Given the description of an element on the screen output the (x, y) to click on. 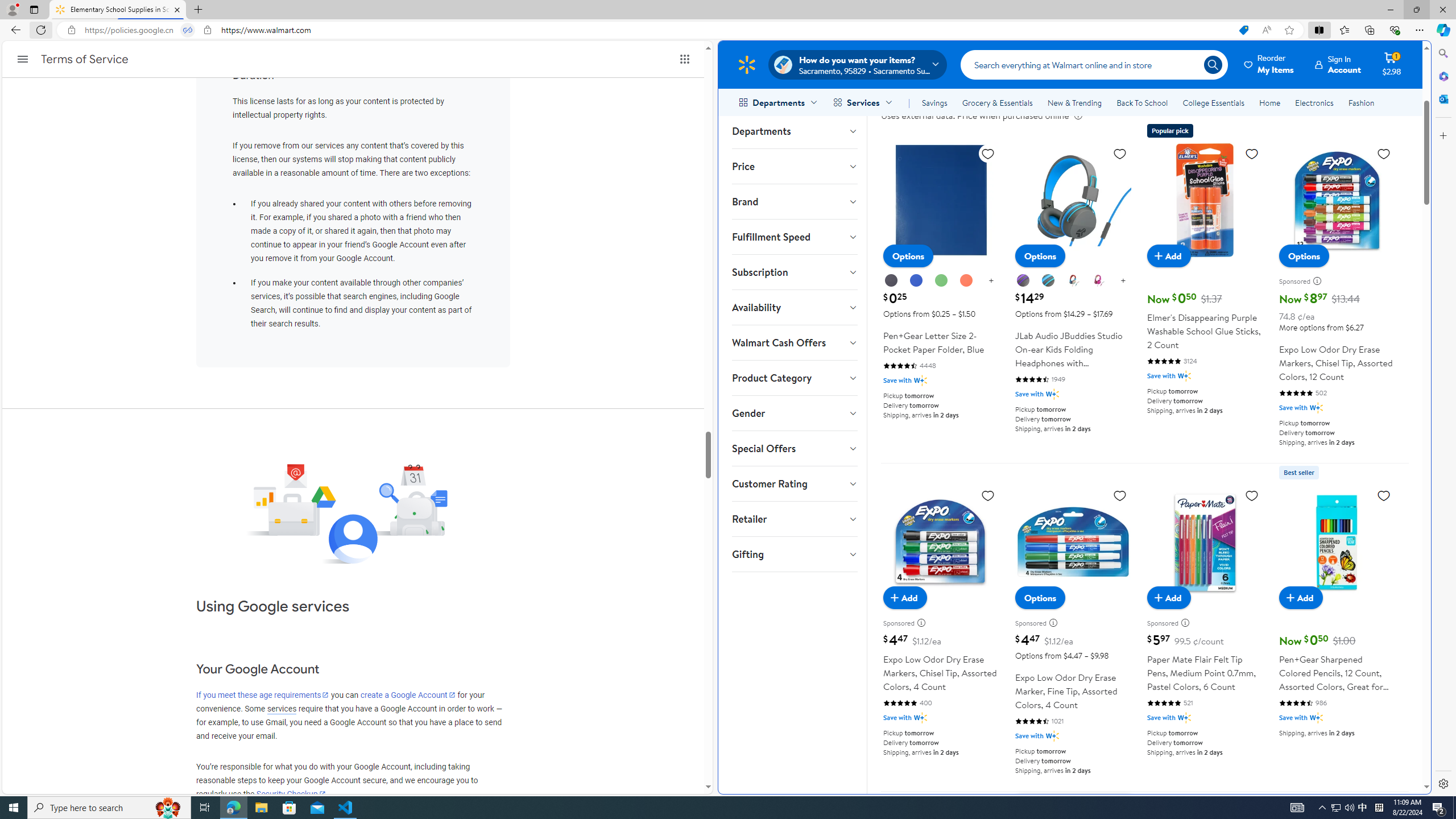
Special Offers (794, 448)
Customer Rating (794, 483)
New & Trending (1075, 102)
Product Category (794, 377)
